Given the description of an element on the screen output the (x, y) to click on. 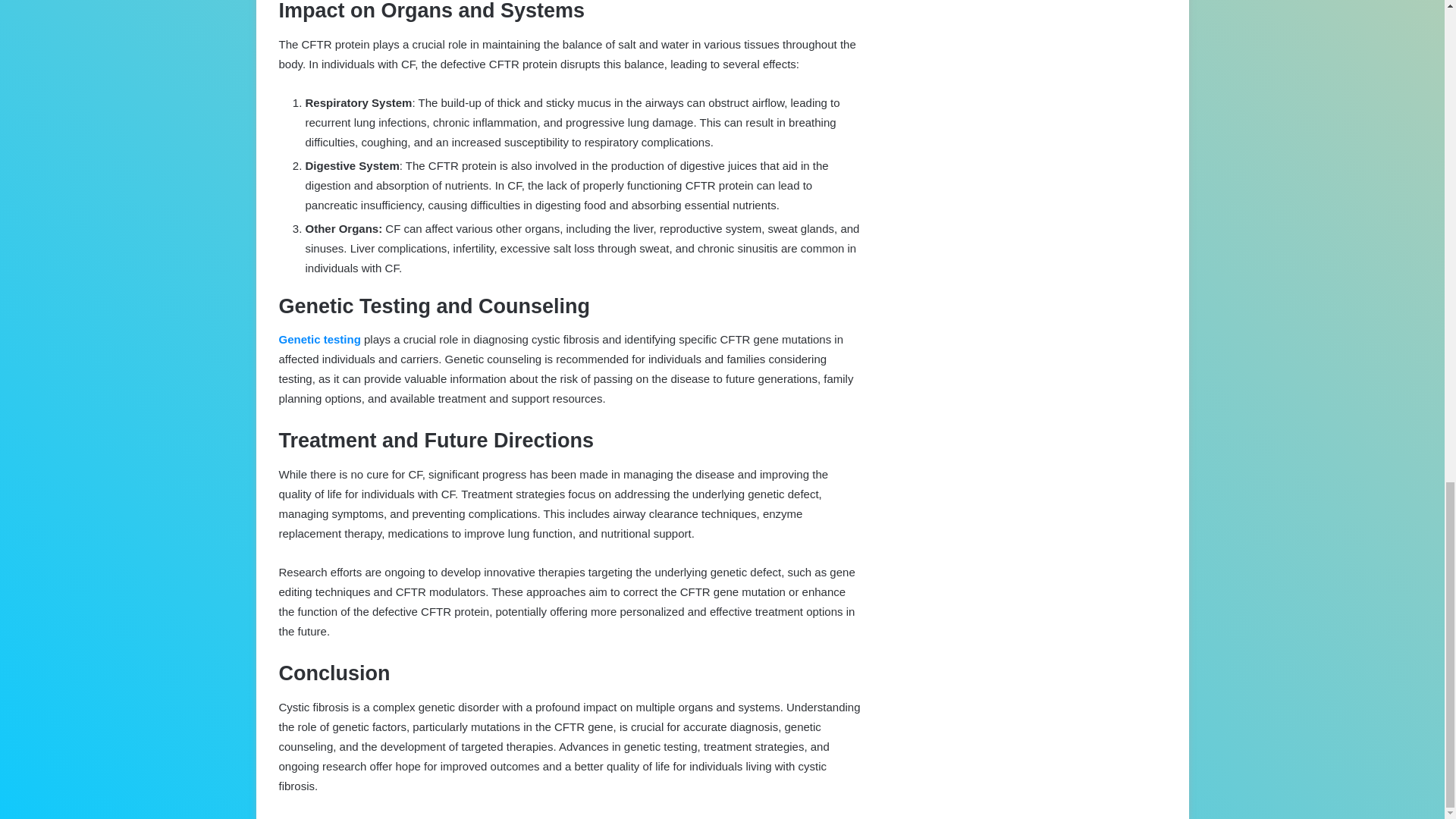
Genetic testing (320, 338)
